Given the description of an element on the screen output the (x, y) to click on. 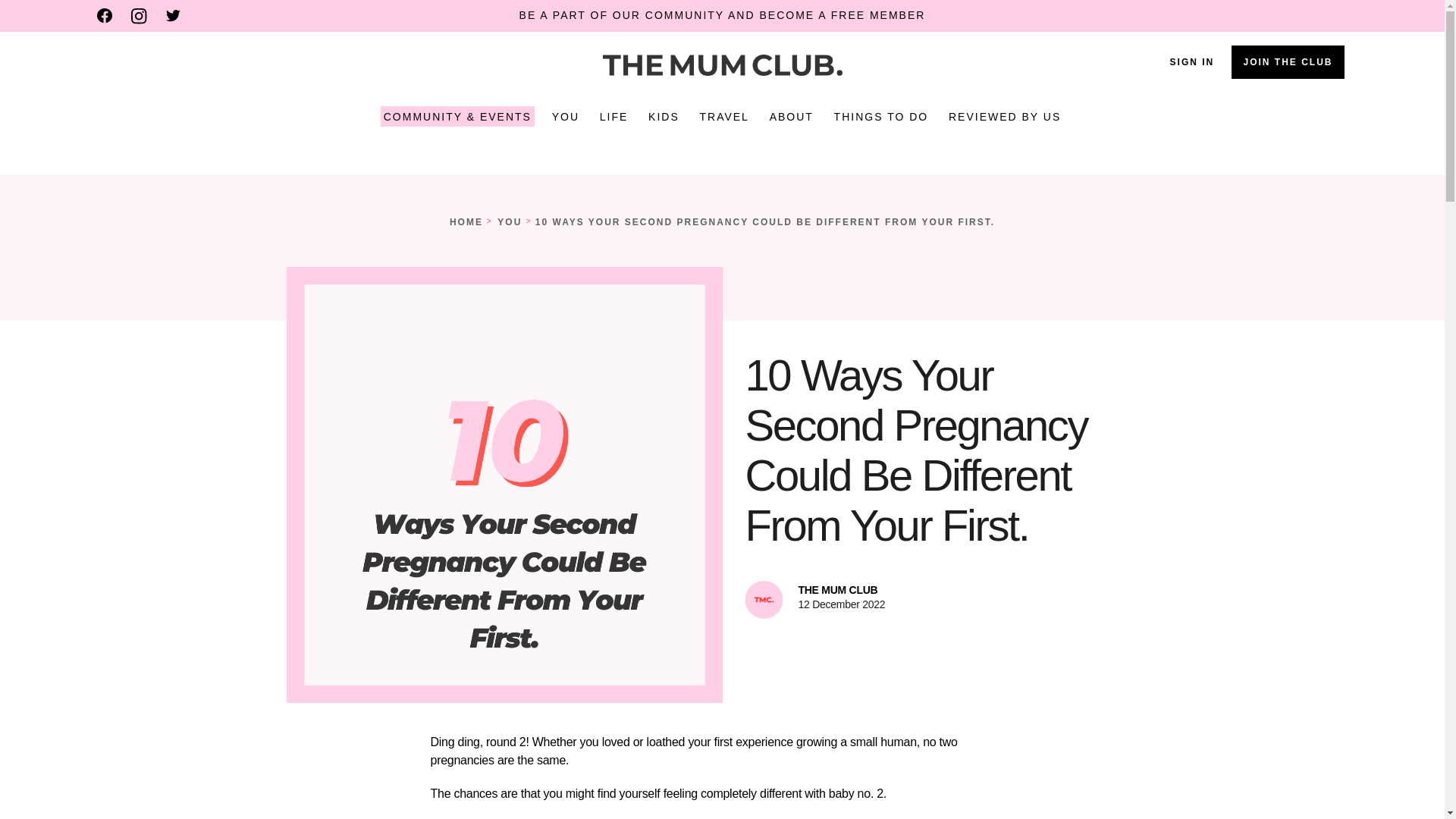
Join The Club (1287, 61)
BE A PART OF OUR COMMUNITY AND BECOME A FREE MEMBER (722, 15)
LIFE (613, 116)
Social Link (139, 16)
Sign In (1192, 61)
SIGN IN (1192, 61)
Social Link (172, 15)
The Mum Club (721, 65)
The Mum Club Logo (721, 65)
JOIN THE CLUB (1287, 61)
Social Link (105, 15)
KIDS (663, 116)
YOU (565, 116)
